Given the description of an element on the screen output the (x, y) to click on. 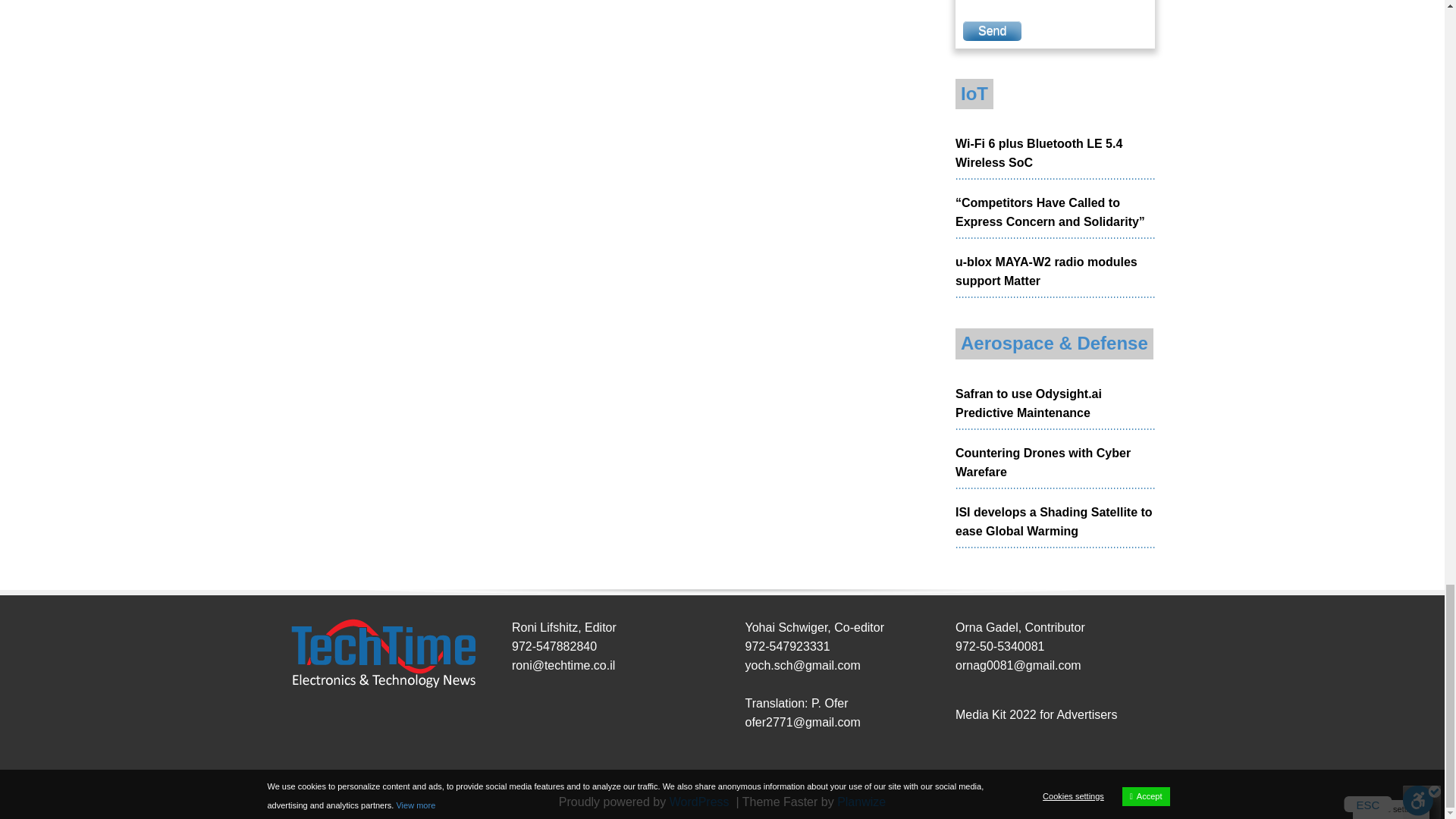
Techtime Logo (382, 654)
SuperPlugin (861, 801)
Wordpress (700, 801)
Send (992, 30)
